Given the description of an element on the screen output the (x, y) to click on. 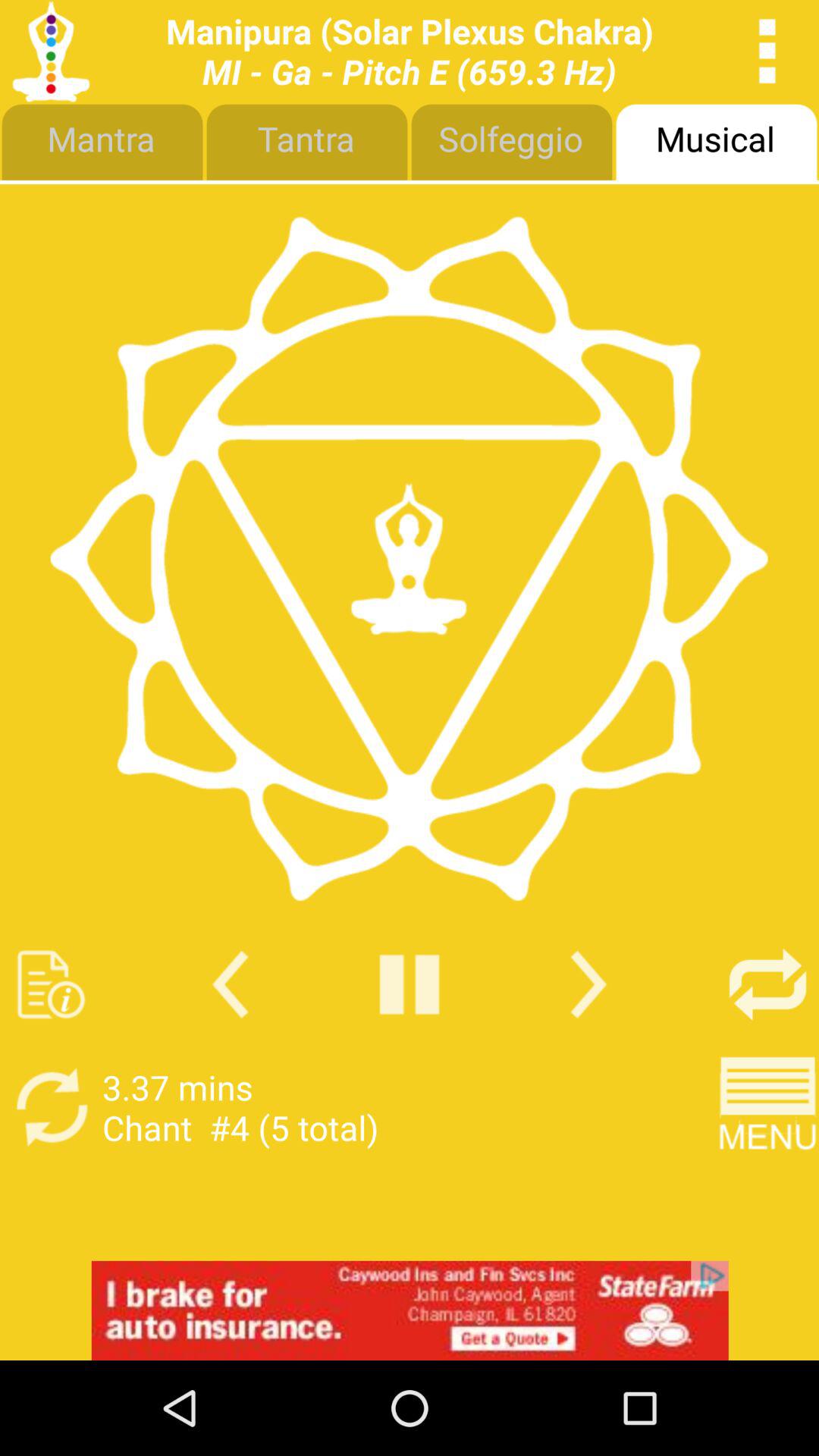
view more information (51, 984)
